Given the description of an element on the screen output the (x, y) to click on. 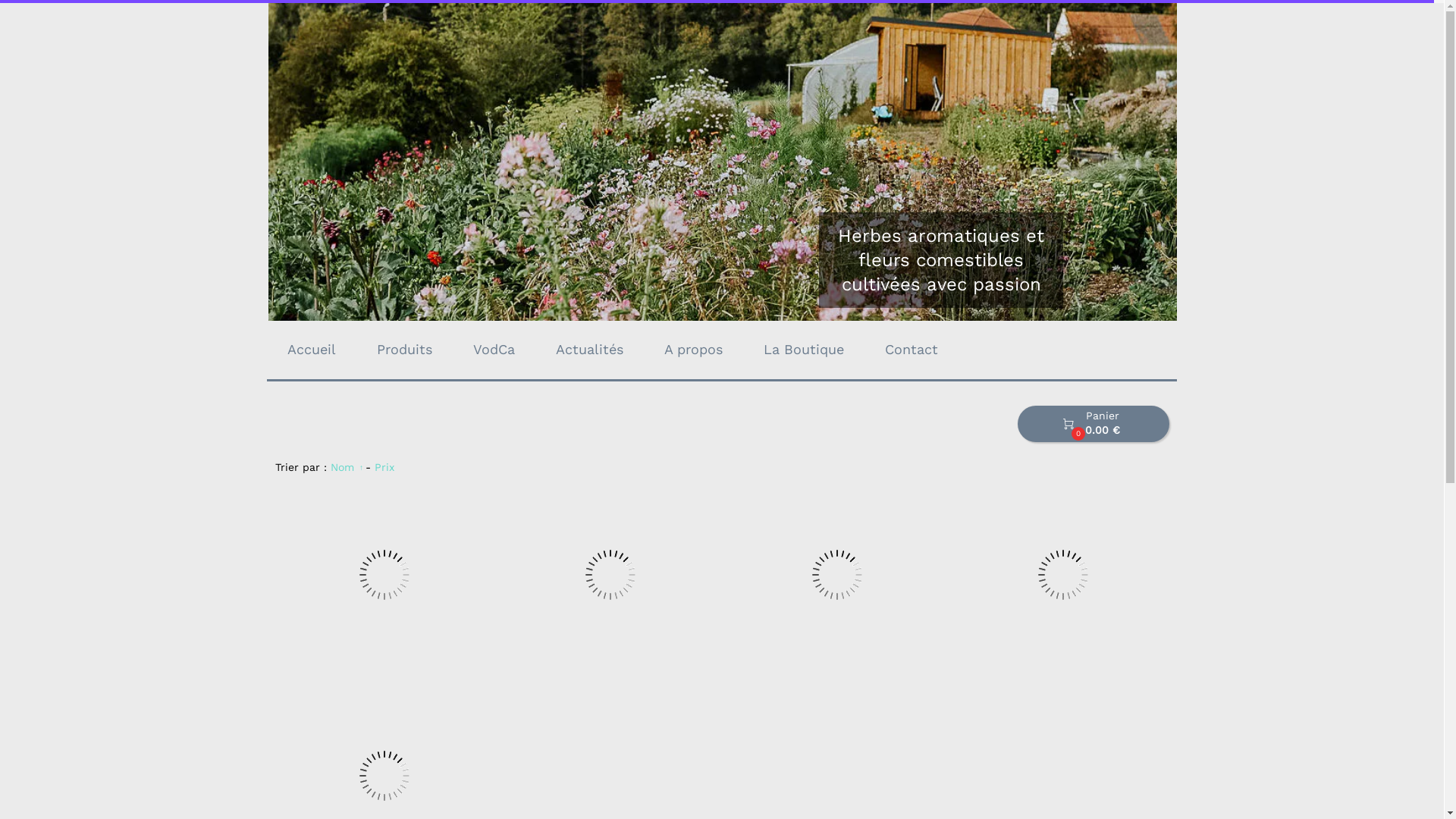
Accueil Element type: text (311, 349)
VodCa Element type: text (493, 349)
A propos Element type: text (693, 349)
Contact Element type: text (911, 349)
Produits Element type: text (404, 349)
La Boutique Element type: text (803, 349)
